Given the description of an element on the screen output the (x, y) to click on. 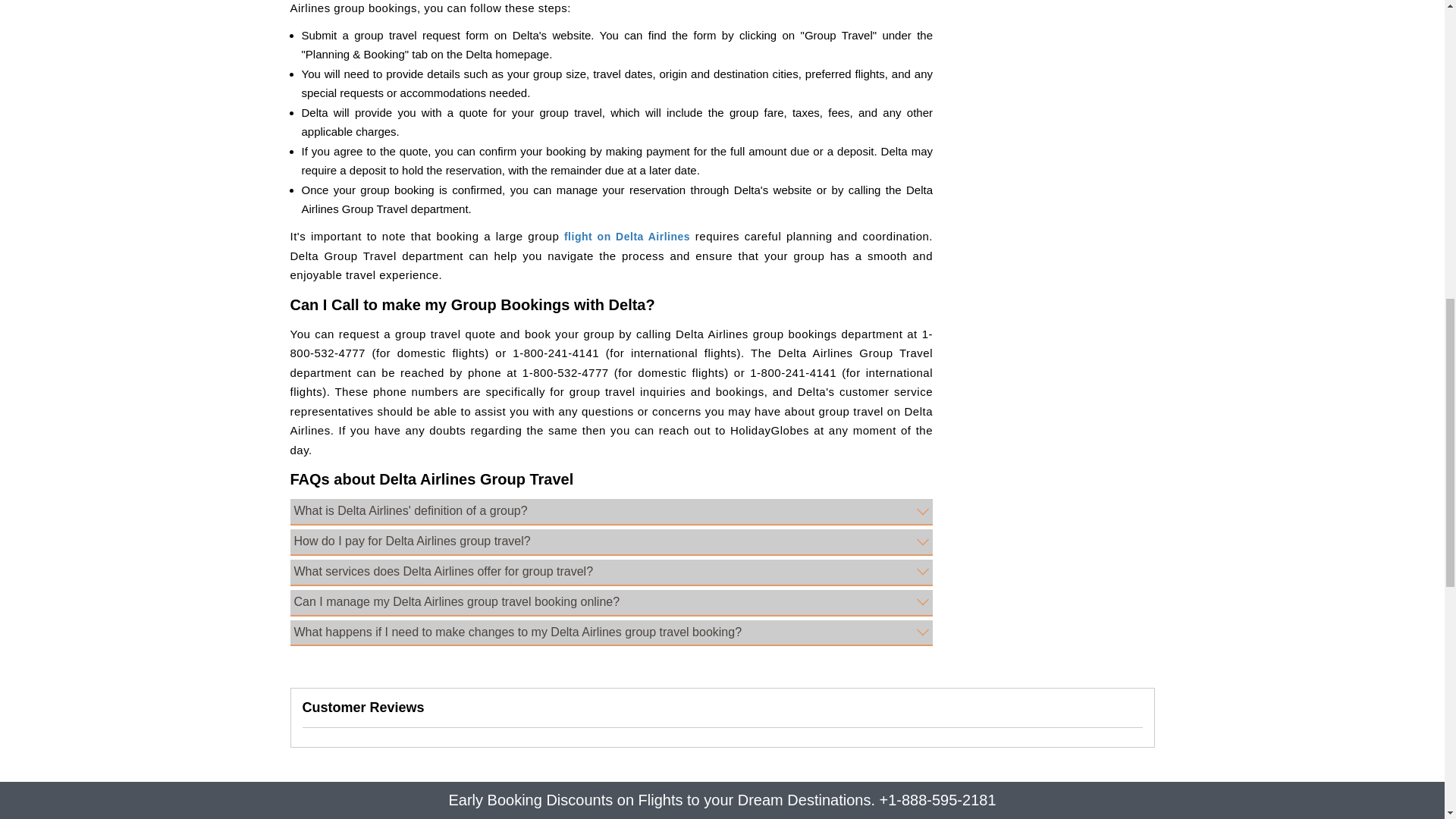
flight on Delta Airlines (627, 236)
